Given the description of an element on the screen output the (x, y) to click on. 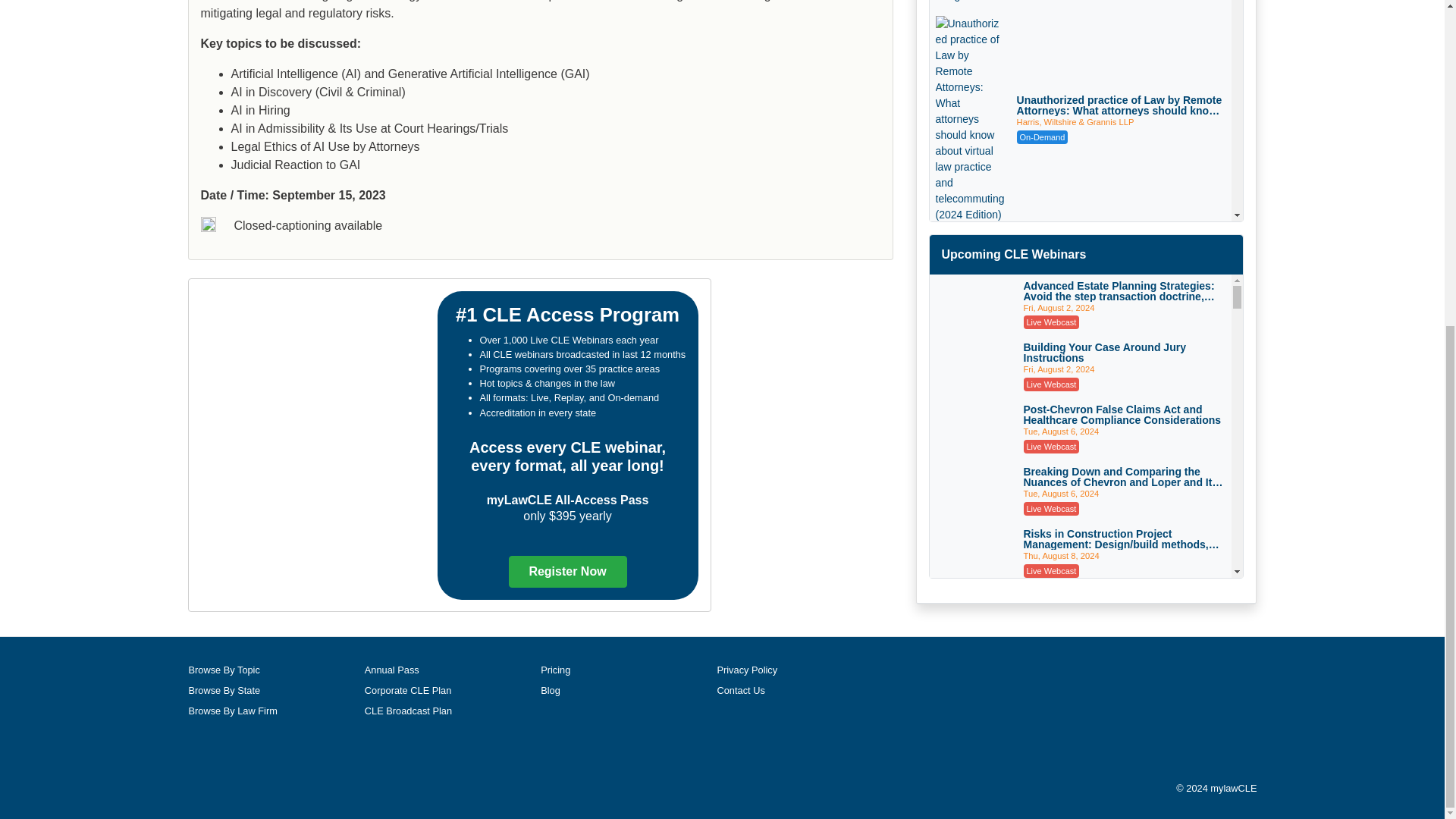
The Corporate Transparency Act Reporting Obligations (968, 2)
IRS Penalty Abatement Made Easy (1114, 252)
Lawyers Serving on Boards (1124, 517)
Lawyers Serving on Boards (973, 532)
IRS Penalty Abatement Made Easy (964, 266)
